Given the description of an element on the screen output the (x, y) to click on. 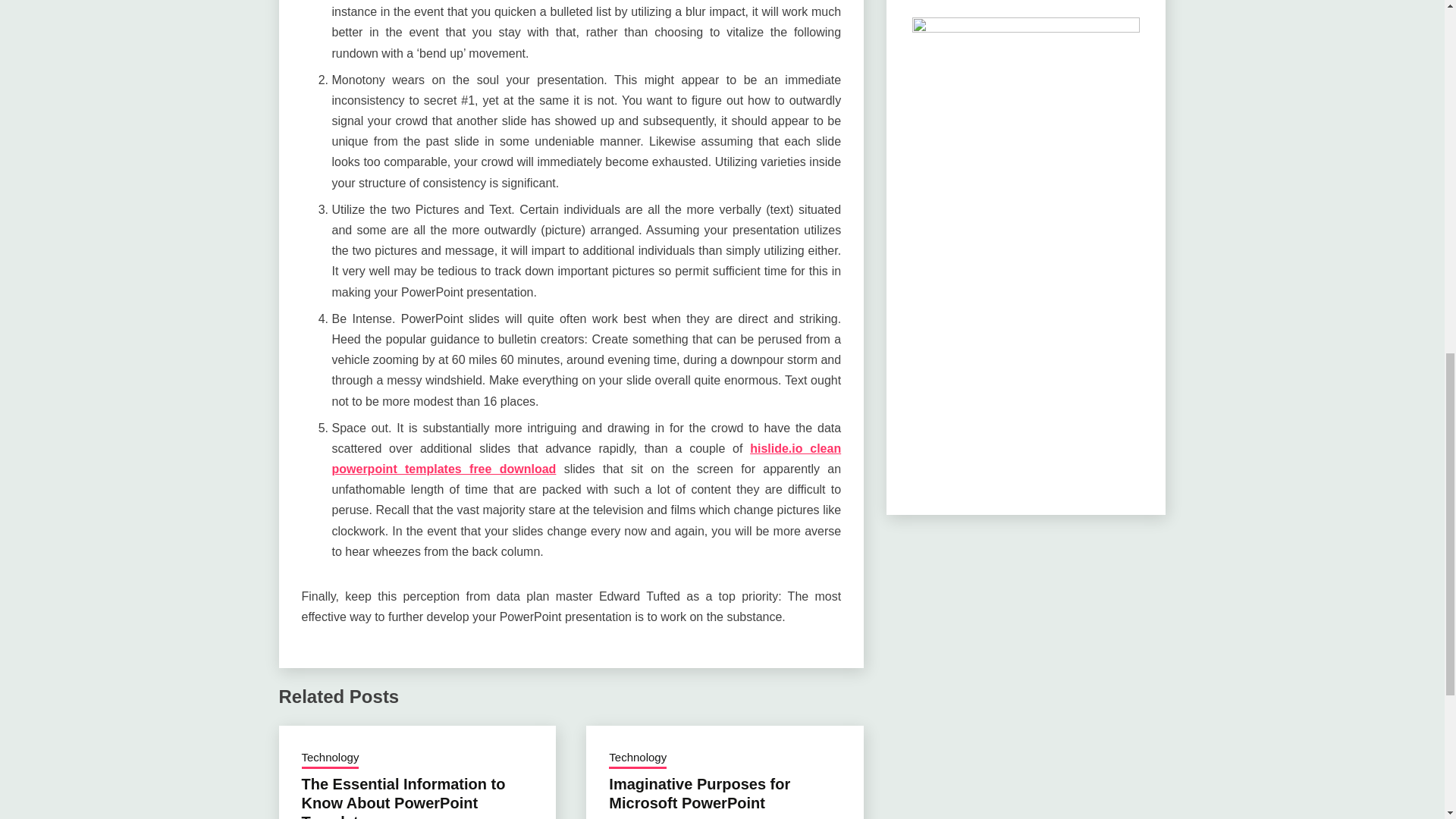
The Essential Information to Know About PowerPoint Templates (403, 797)
Technology (330, 759)
Technology (637, 759)
Imaginative Purposes for Microsoft PowerPoint (699, 793)
hislide.io clean powerpoint templates free download (586, 458)
